Given the description of an element on the screen output the (x, y) to click on. 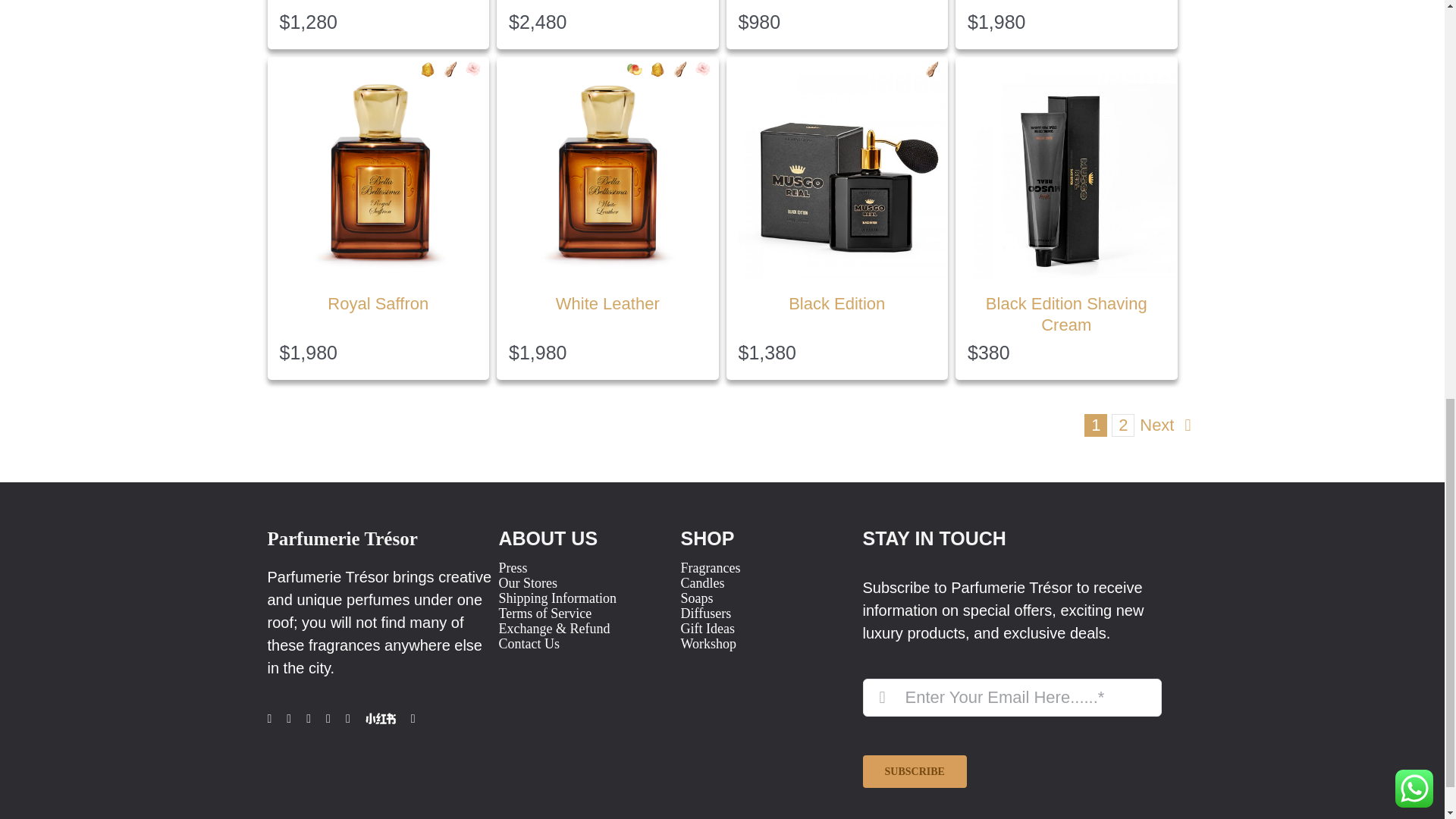
SUBSCRIBE (1012, 733)
